Given the description of an element on the screen output the (x, y) to click on. 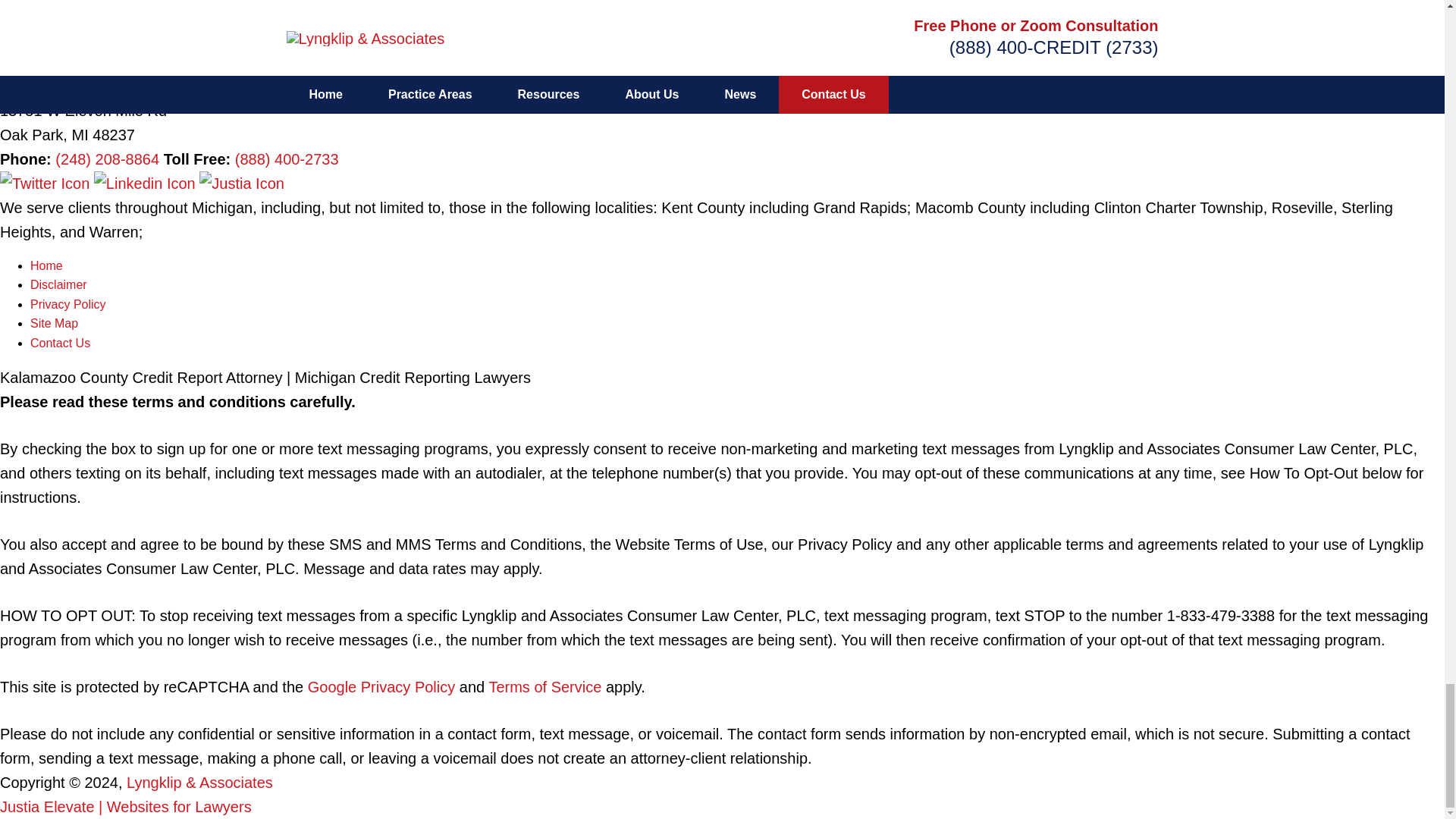
Justia (241, 183)
Linkedin (146, 183)
Twitter (47, 183)
